Given the description of an element on the screen output the (x, y) to click on. 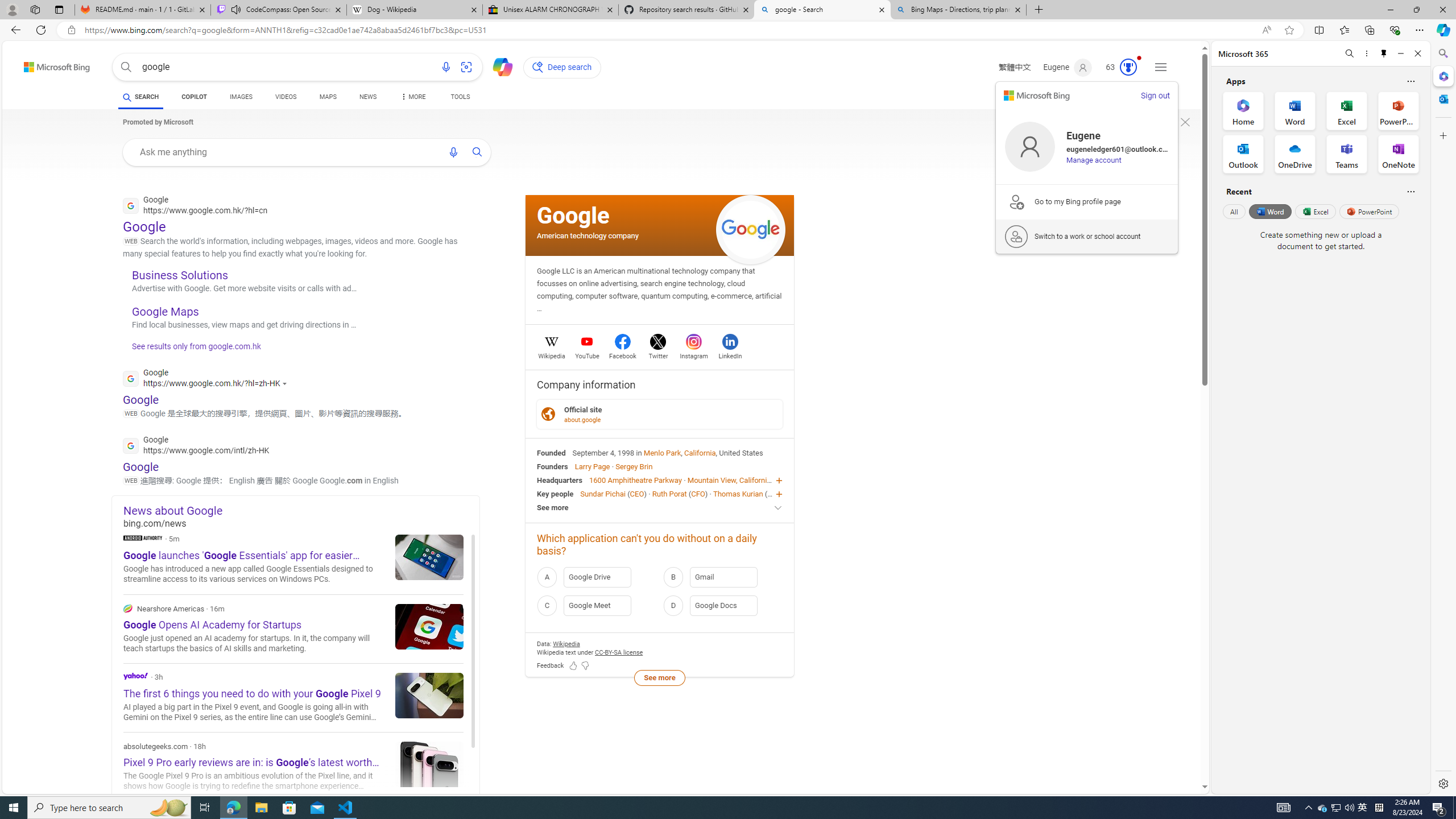
Facebook (622, 354)
Google (573, 215)
Unpin side pane (1383, 53)
NEWS (367, 96)
Google Maps (165, 311)
COPILOT (193, 96)
Mountain View, California (729, 479)
Class: sp-ofsite (547, 414)
A Google Drive (596, 576)
